Given the description of an element on the screen output the (x, y) to click on. 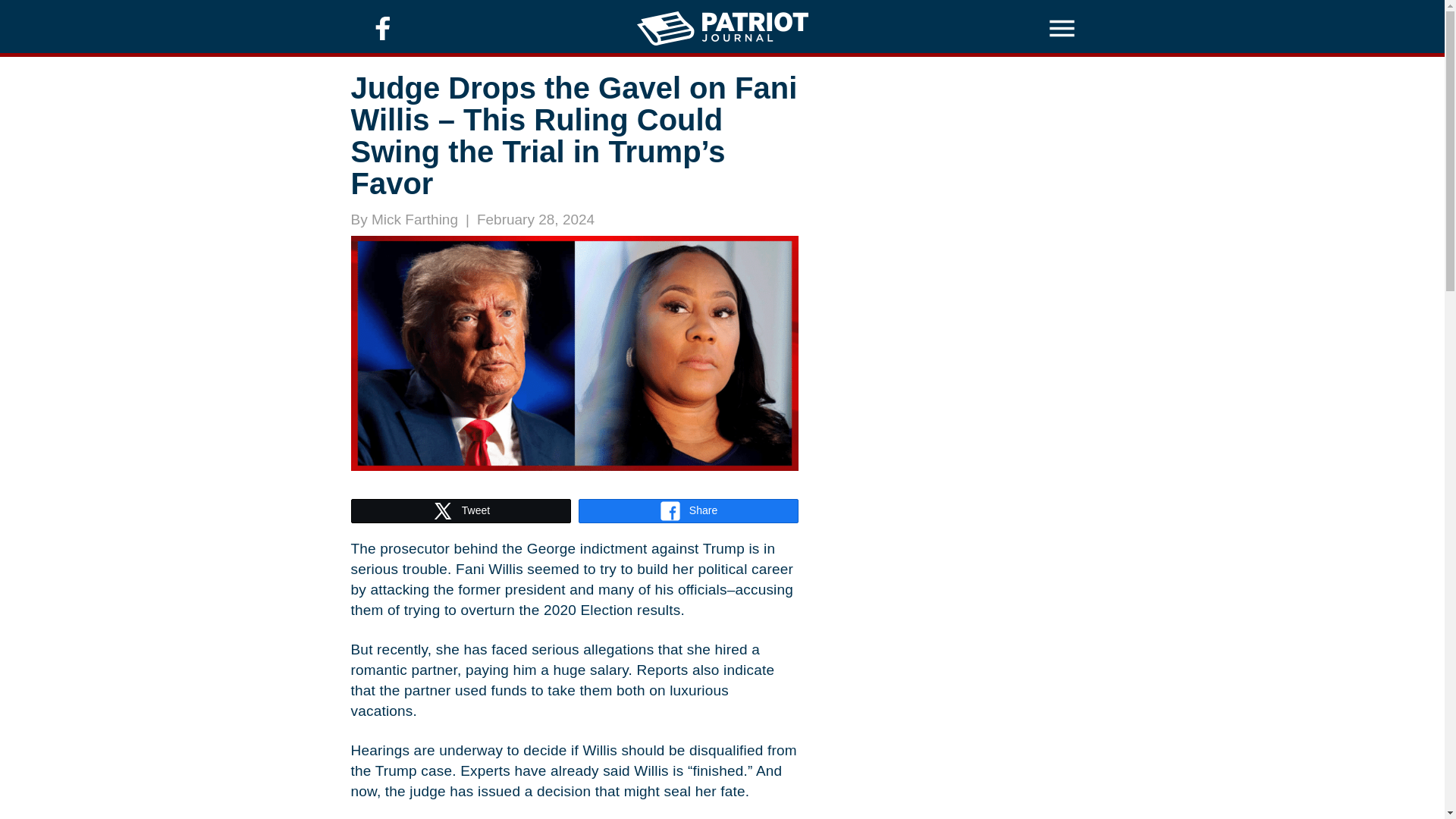
Mick Farthing (414, 219)
Share (688, 510)
Tweet (461, 510)
